Given the description of an element on the screen output the (x, y) to click on. 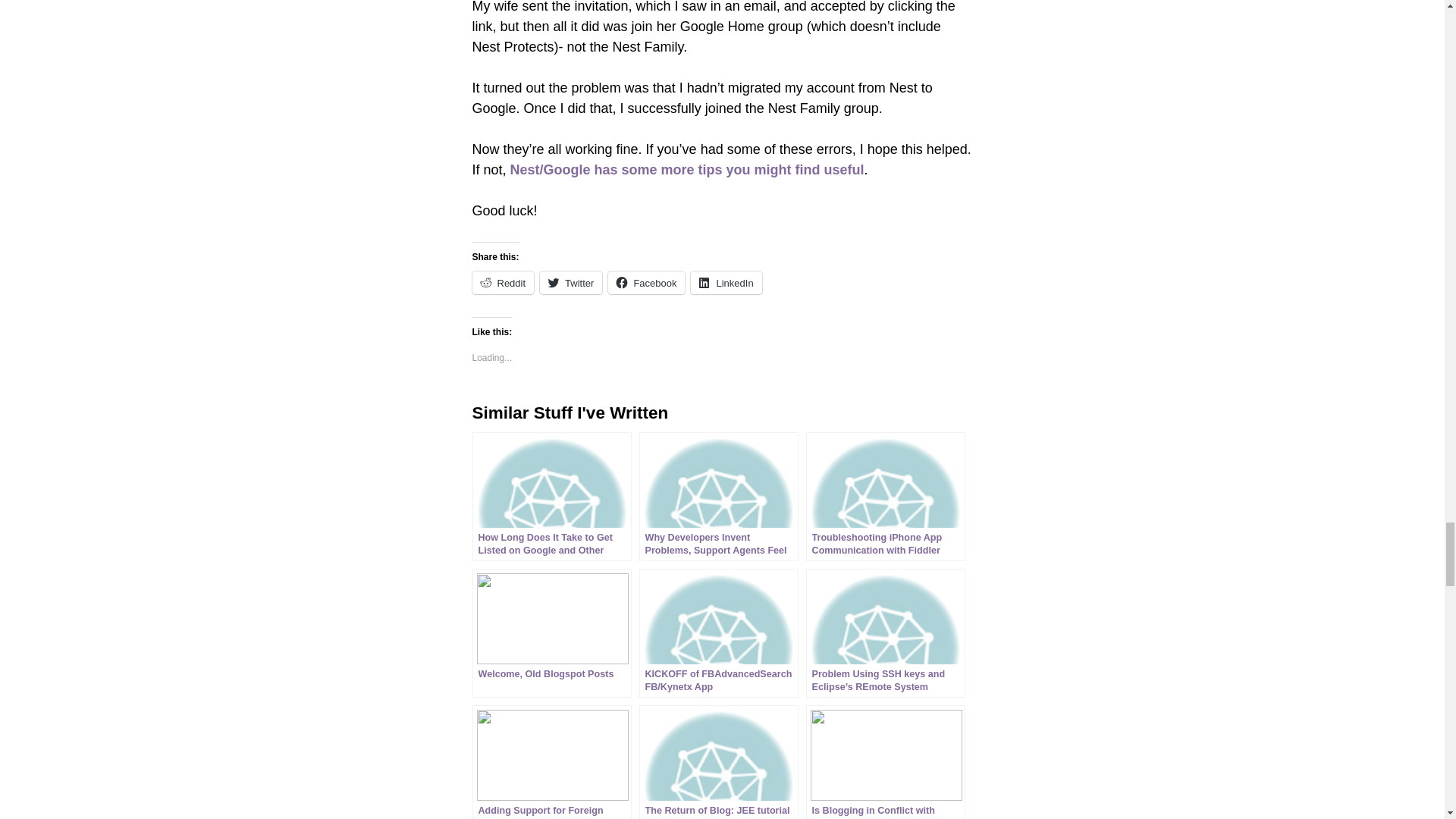
Click to share on Twitter (571, 282)
Welcome, Old Blogspot Posts (550, 632)
Adding Support for Foreign Characters to Django (550, 762)
Troubleshooting iPhone App Communication with Fiddler (885, 496)
Click to share on Facebook (646, 282)
The Return of Blog: JEE tutorial begins (718, 762)
Click to share on Reddit (502, 282)
Click to share on LinkedIn (725, 282)
